Given the description of an element on the screen output the (x, y) to click on. 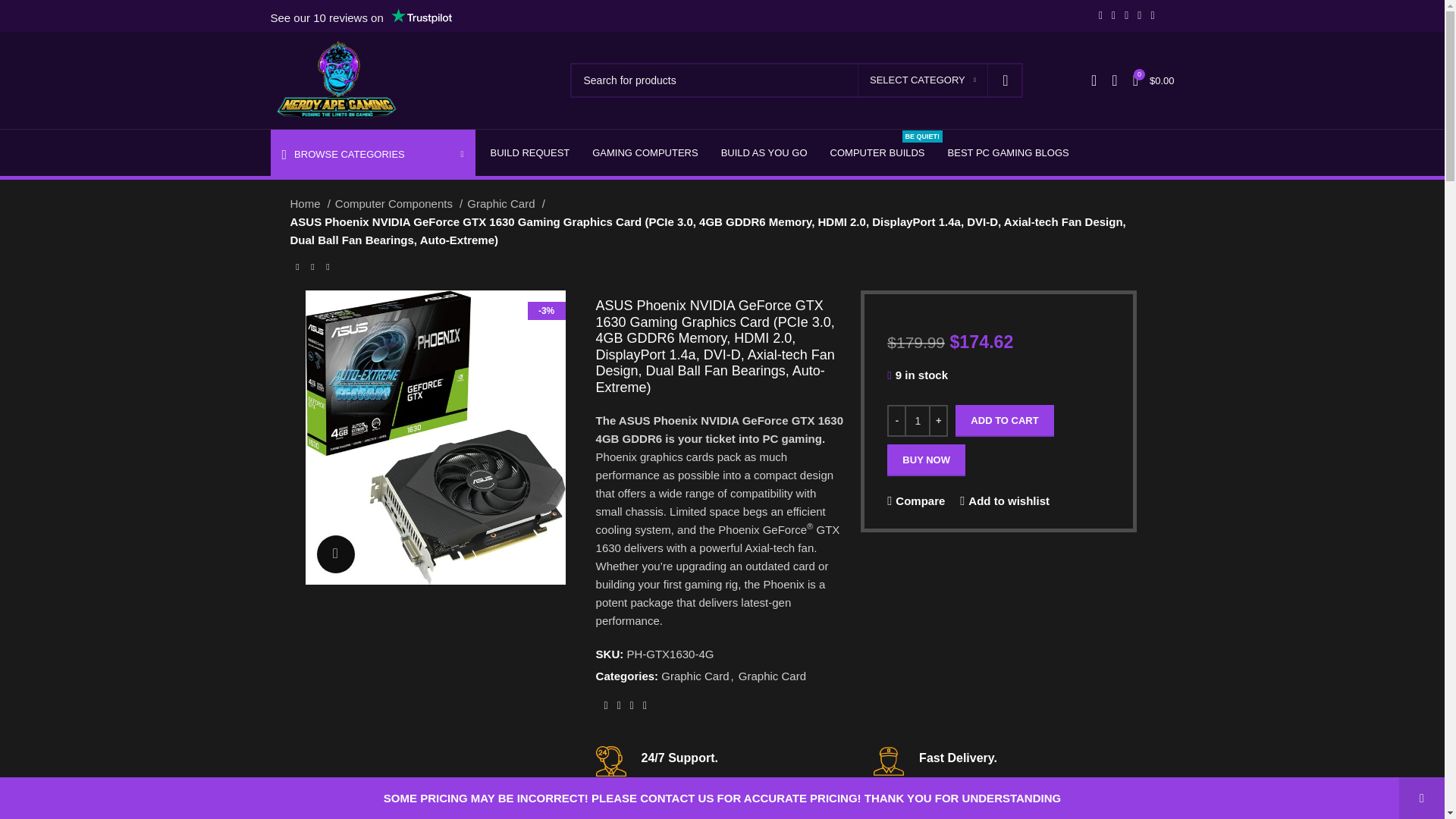
retail-delivery-man.svg (888, 761)
Search for products (796, 80)
SELECT CATEGORY (922, 80)
- (895, 420)
SELECT CATEGORY (922, 80)
Asus Phoenix Nvidia Geforce Gtx 1630 Gaming Graphics Card (434, 437)
Shopping cart (1153, 80)
My account (1093, 80)
My Wishlist (1113, 80)
1 (916, 420)
retail-247.svg (610, 761)
